Given the description of an element on the screen output the (x, y) to click on. 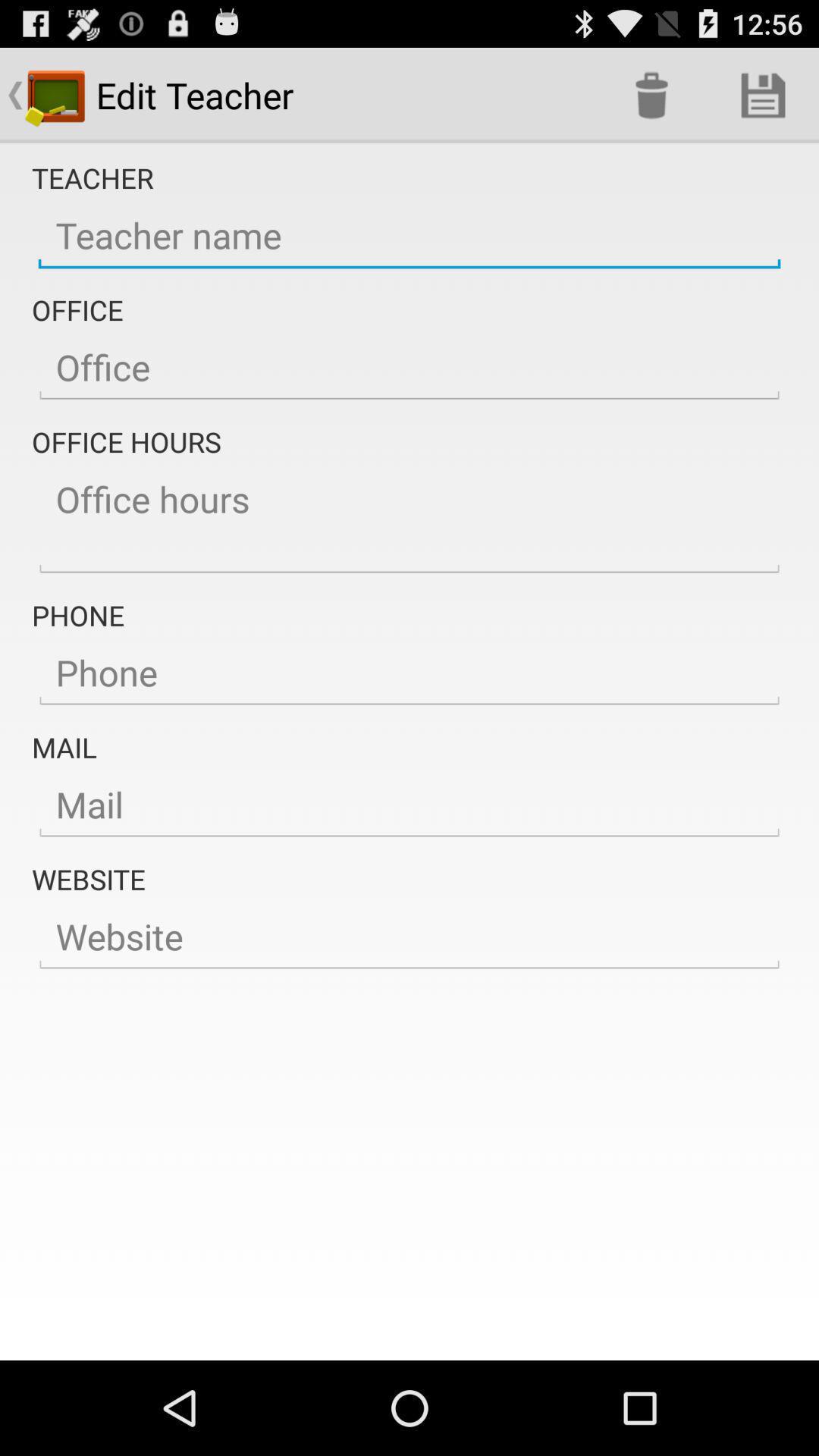
edit teacher phone number (409, 673)
